Given the description of an element on the screen output the (x, y) to click on. 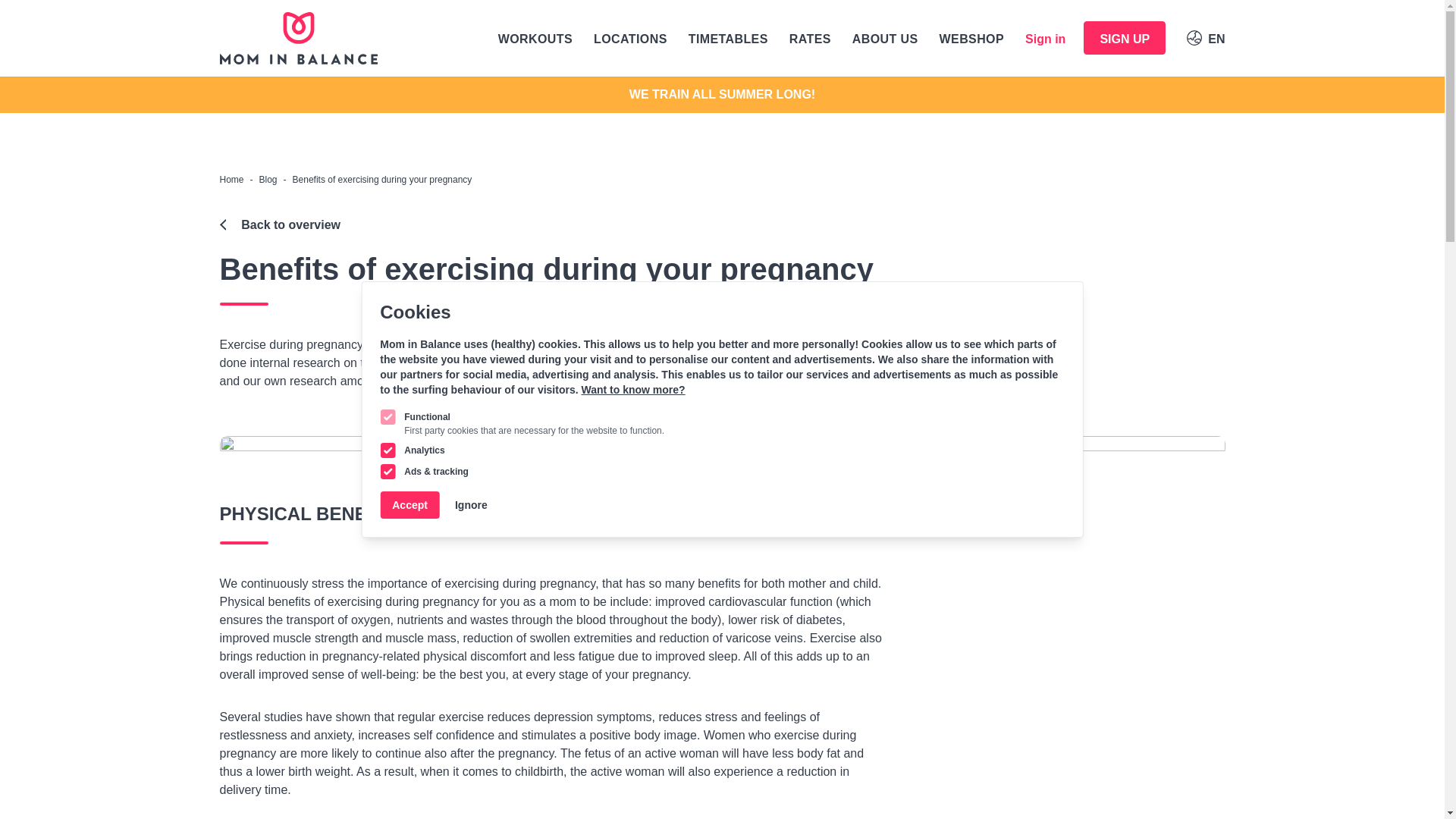
on (387, 417)
Ignore (470, 504)
on (387, 471)
RATES (810, 38)
Accept (409, 504)
Want to know more? (632, 389)
LOCATIONS (630, 38)
WEBSHOP (971, 38)
ABOUT US (884, 38)
WORKOUTS (534, 38)
